Given the description of an element on the screen output the (x, y) to click on. 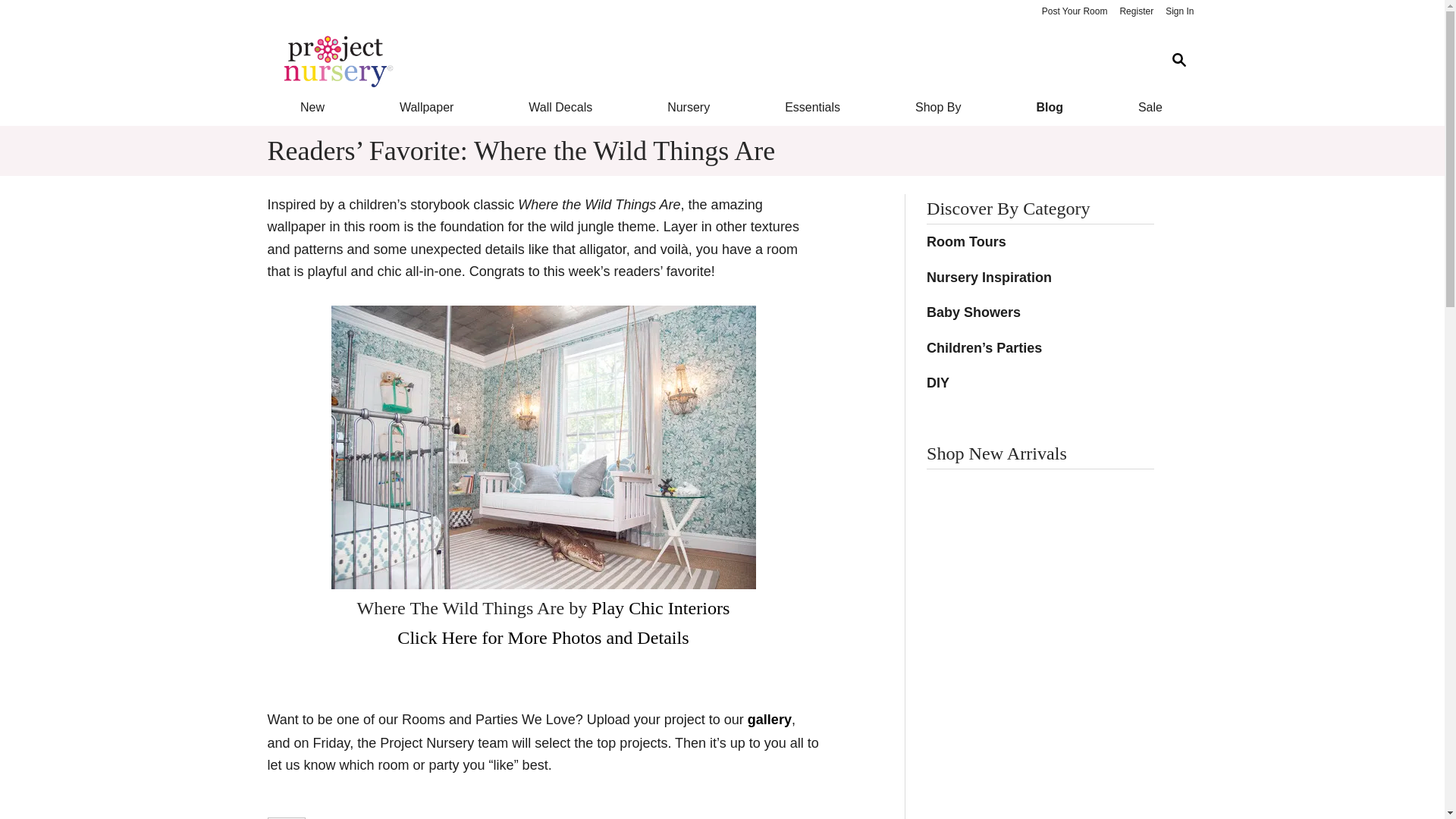
Post Your Room (1074, 11)
Register (1135, 11)
Wall Decals (561, 107)
New (311, 107)
Sign In (1178, 11)
Wallpaper (425, 107)
Search (1178, 60)
Nursery (689, 107)
Post Your Room (1074, 11)
Project Nursery (709, 60)
